Given the description of an element on the screen output the (x, y) to click on. 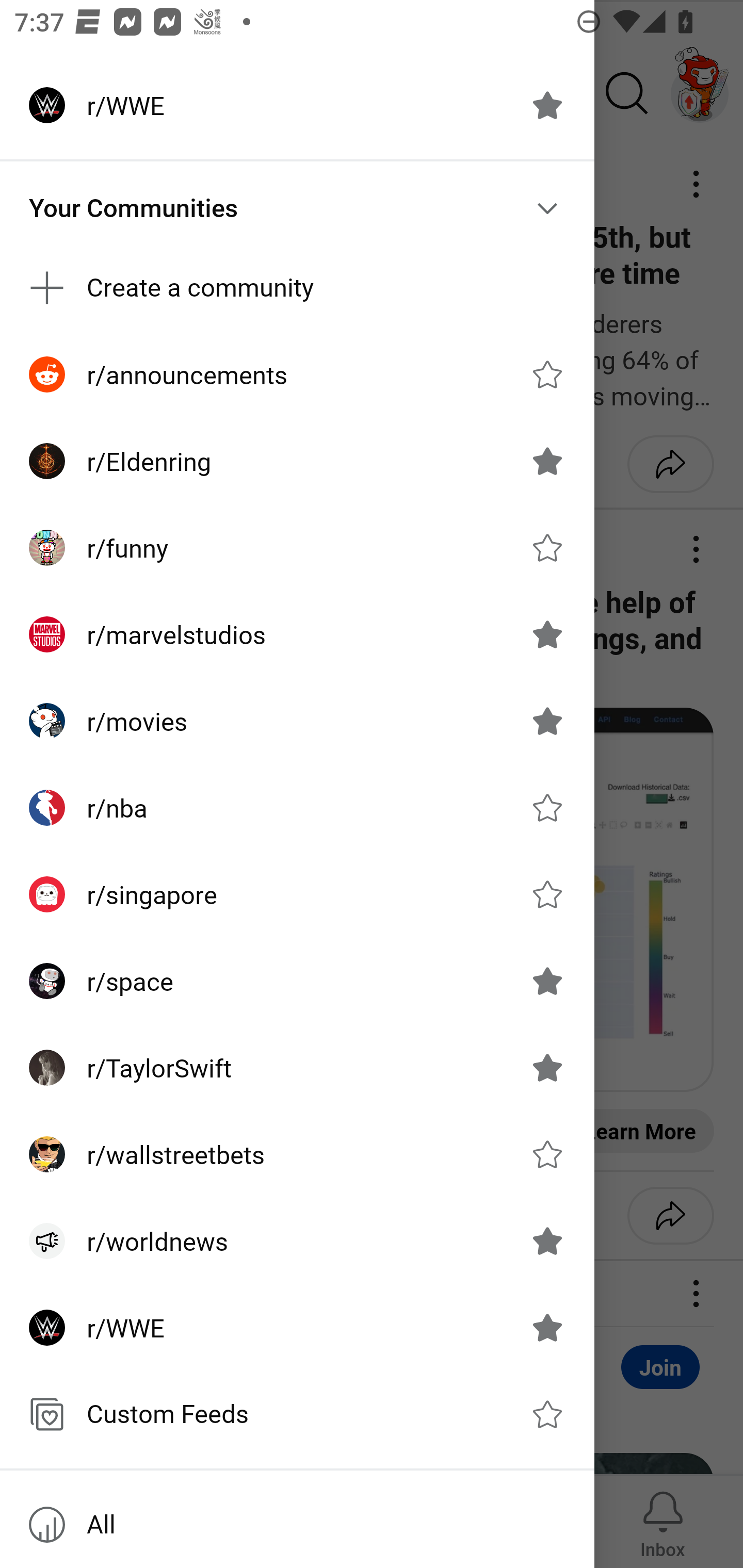
r/WWE Unfavorite r/WWE (297, 104)
Unfavorite r/WWE (546, 104)
Your Communities (297, 208)
Create a community (297, 287)
r/announcements Favorite r/announcements (297, 373)
Favorite r/announcements (546, 373)
r/Eldenring Unfavorite r/Eldenring (297, 460)
Unfavorite r/Eldenring (546, 460)
r/funny Favorite r/funny (297, 547)
Favorite r/funny (546, 548)
r/marvelstudios Unfavorite r/marvelstudios (297, 634)
Unfavorite r/marvelstudios (546, 634)
r/movies Unfavorite r/movies (297, 721)
Unfavorite r/movies (546, 721)
r/nba Favorite r/nba (297, 808)
Favorite r/nba (546, 807)
r/singapore Favorite r/singapore (297, 894)
Favorite r/singapore (546, 894)
r/space Unfavorite r/space (297, 980)
Unfavorite r/space (546, 980)
r/TaylorSwift Unfavorite r/TaylorSwift (297, 1067)
Unfavorite r/TaylorSwift (546, 1067)
r/wallstreetbets Favorite r/wallstreetbets (297, 1154)
Favorite r/wallstreetbets (546, 1154)
r/worldnews Unfavorite r/worldnews (297, 1240)
Unfavorite r/worldnews (546, 1241)
r/WWE Unfavorite r/WWE (297, 1327)
Unfavorite r/WWE (546, 1327)
Custom Feeds (297, 1414)
All (297, 1524)
